Given the description of an element on the screen output the (x, y) to click on. 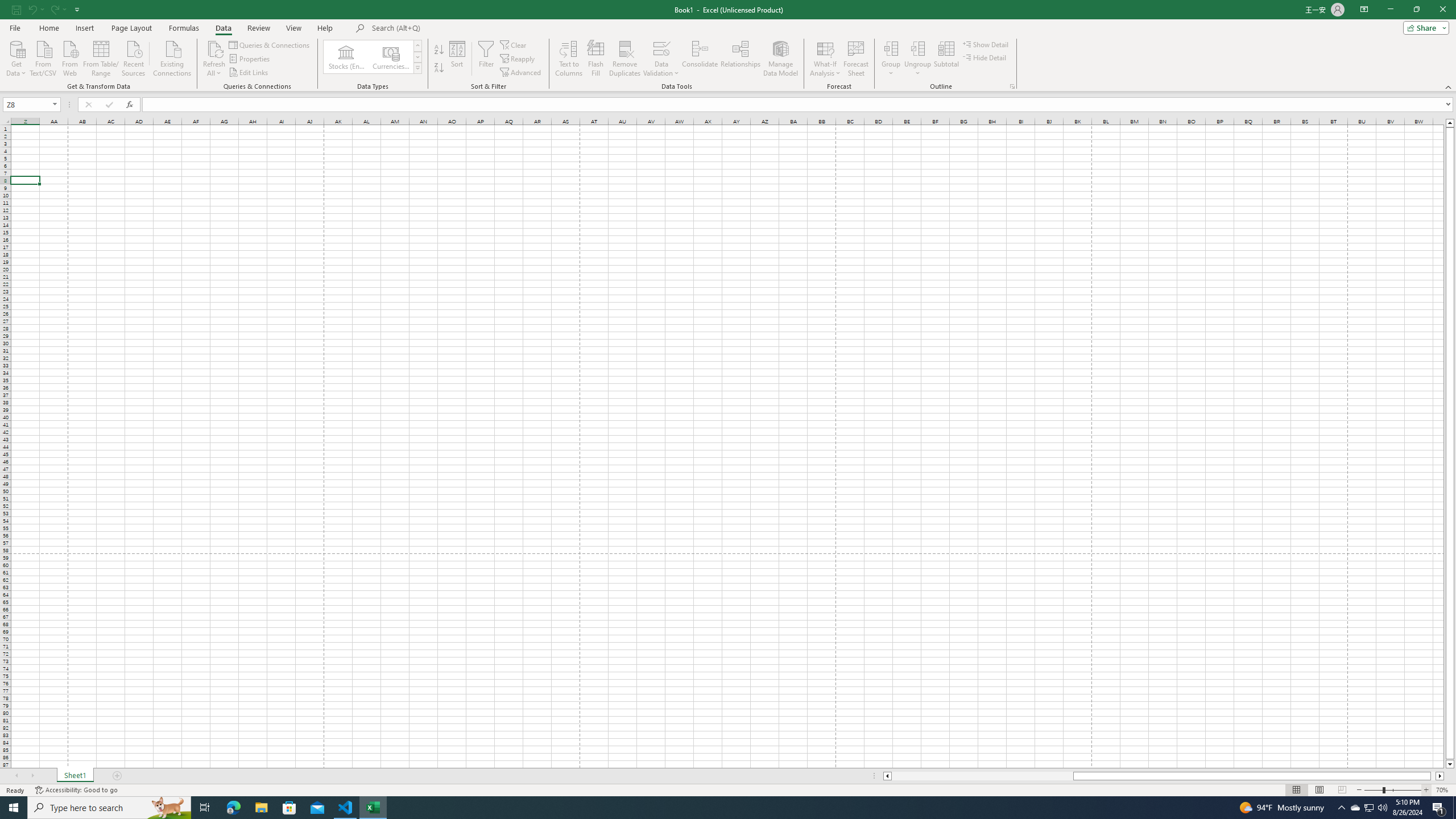
Show Detail (985, 44)
Sort A to Z (438, 49)
Flash Fill (595, 58)
